Given the description of an element on the screen output the (x, y) to click on. 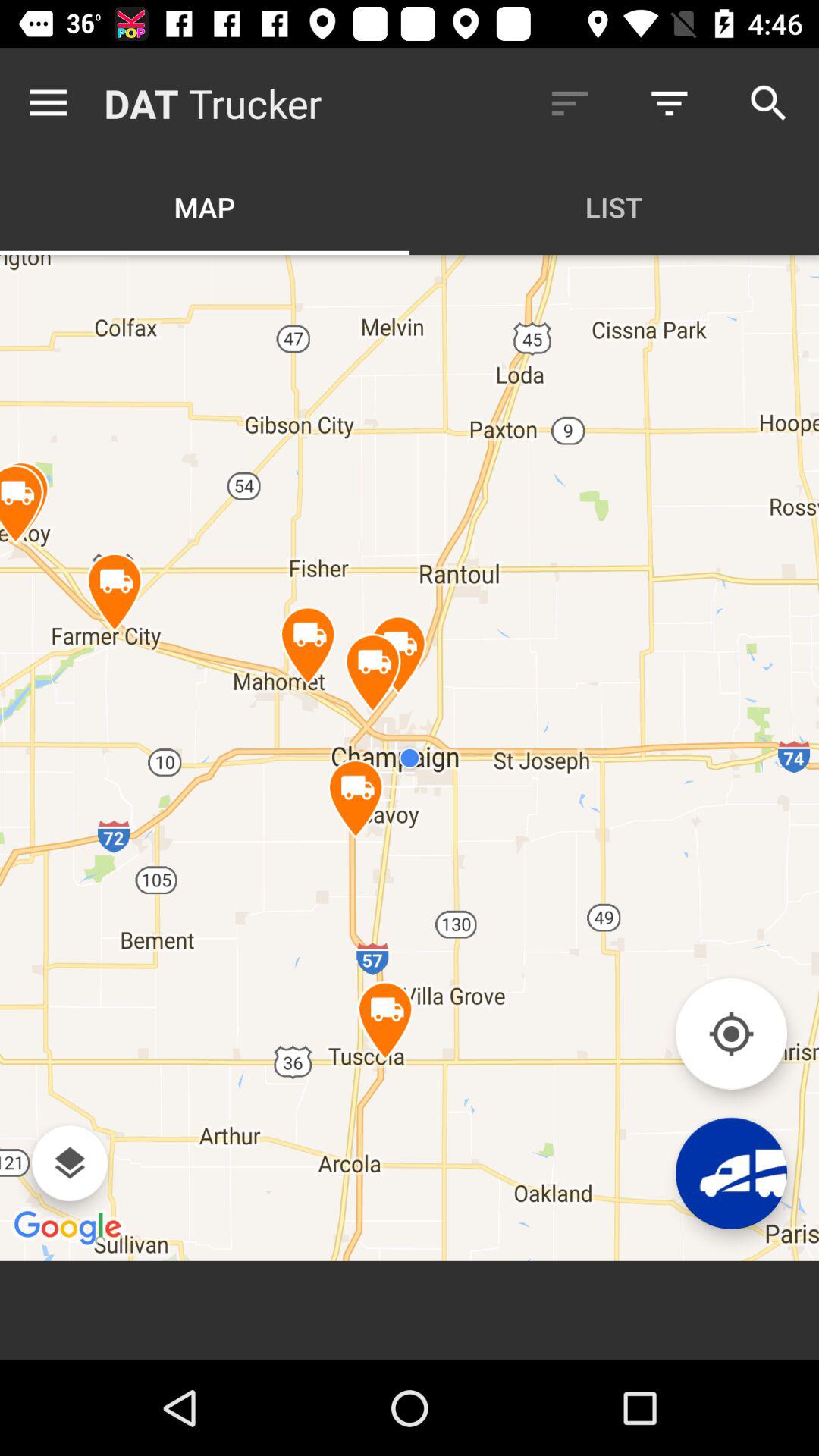
open the item next to dat icon (52, 103)
